Given the description of an element on the screen output the (x, y) to click on. 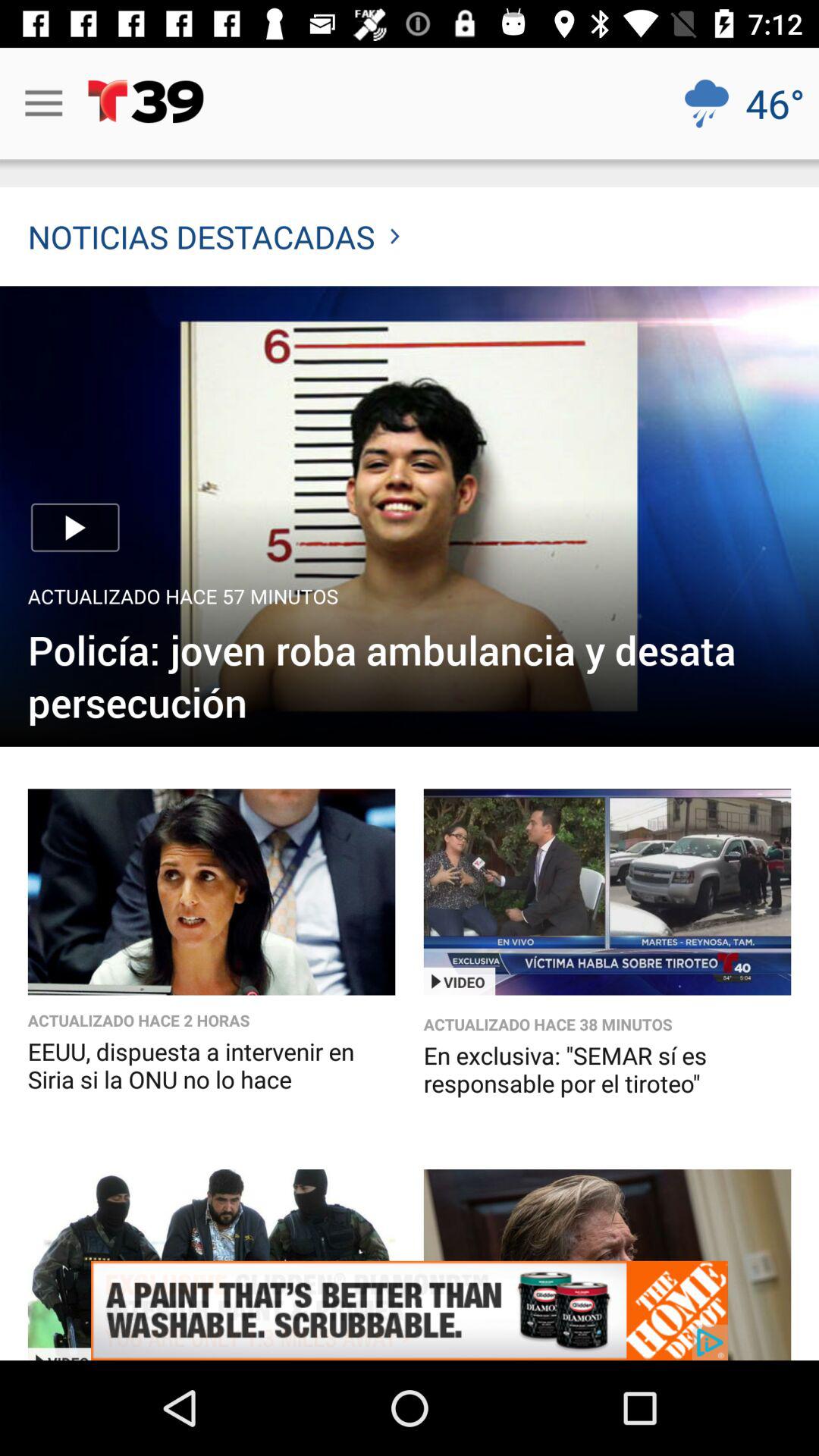
turn off the noticias destacadas icon (213, 236)
